Given the description of an element on the screen output the (x, y) to click on. 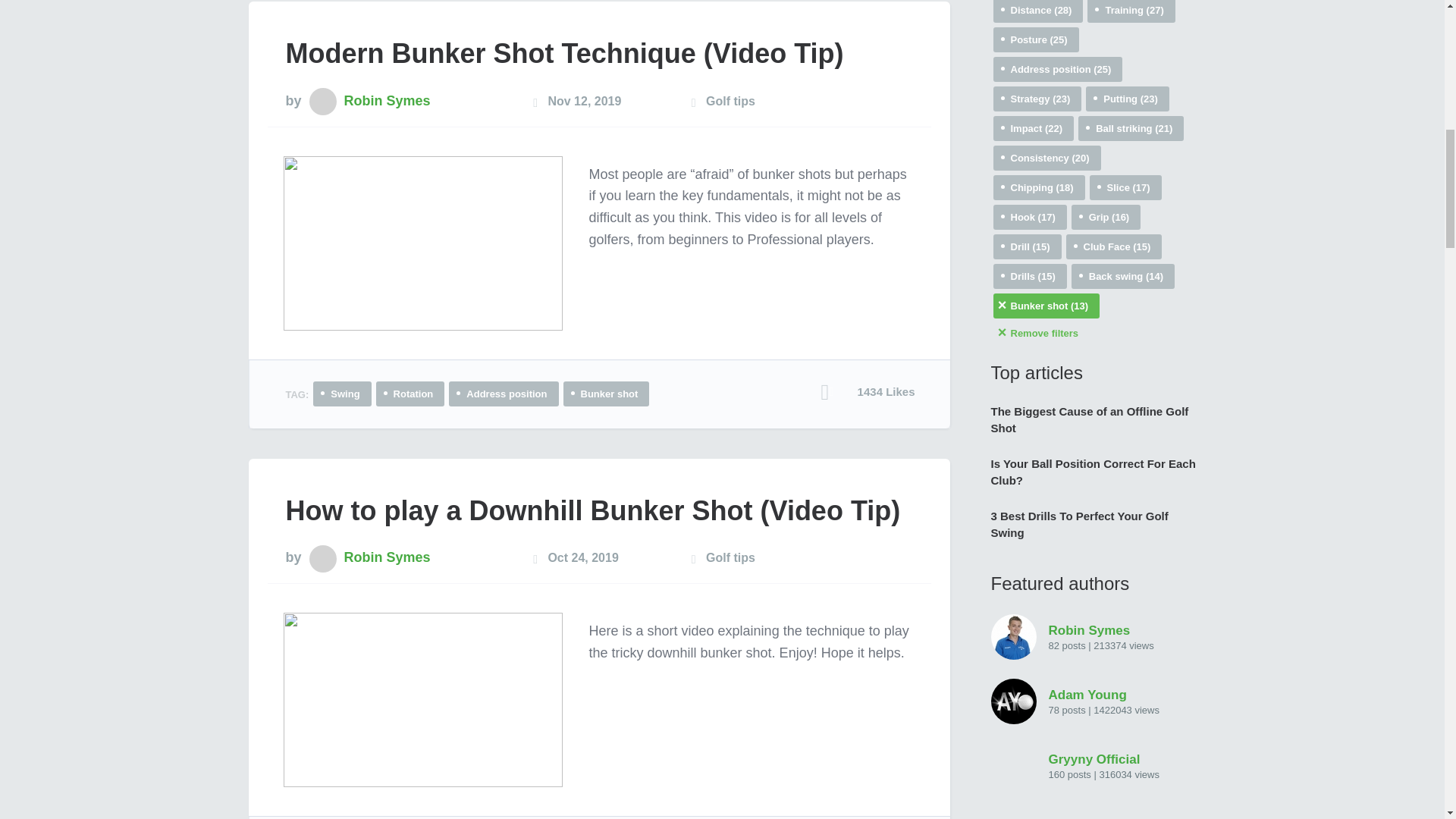
Remove filters (1092, 333)
Cancel (1046, 305)
The Biggest Cause of an Offline Golf Shot (1092, 419)
